Given the description of an element on the screen output the (x, y) to click on. 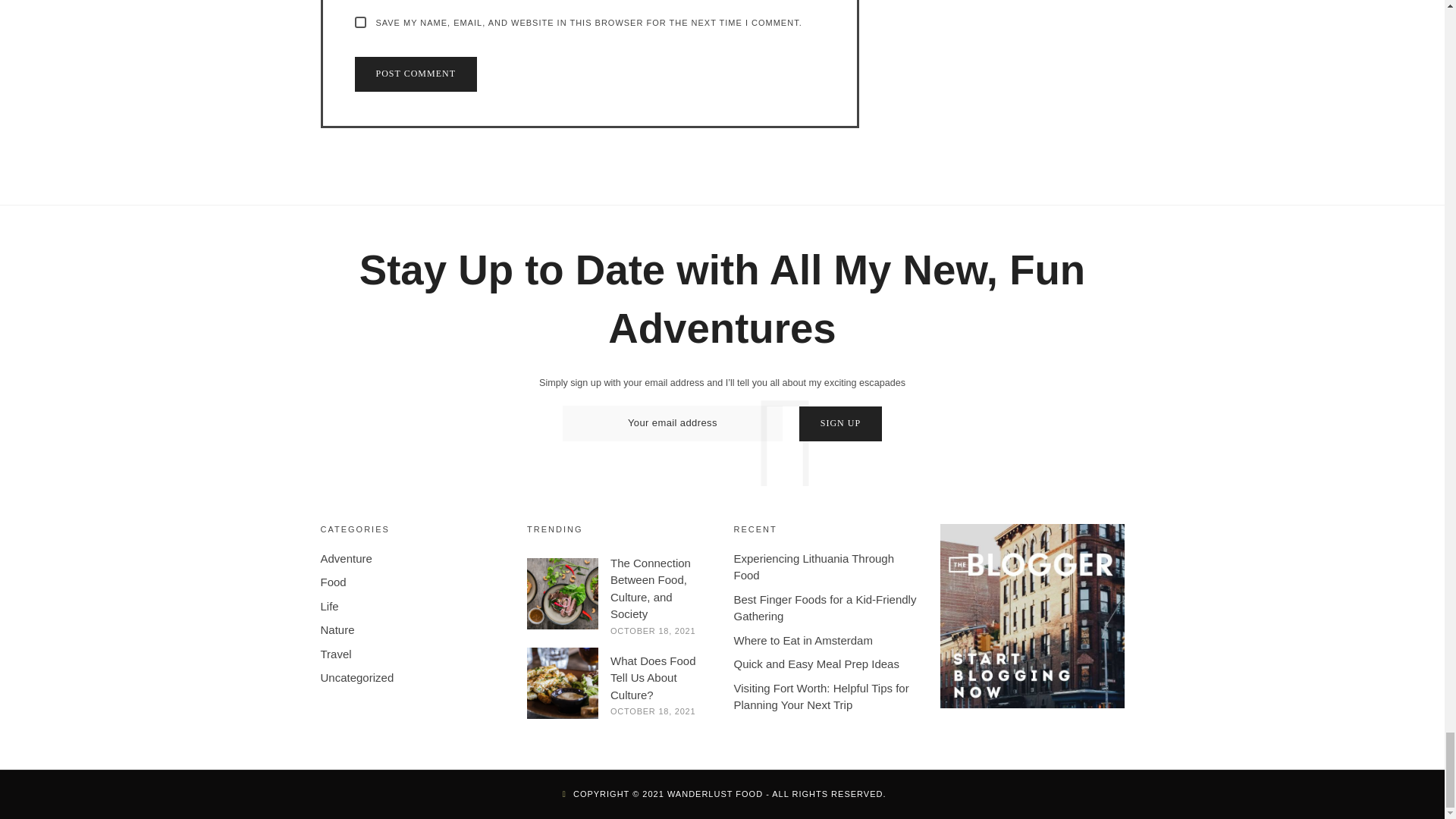
yes (360, 21)
Sign up (840, 423)
Post Comment (416, 73)
